Given the description of an element on the screen output the (x, y) to click on. 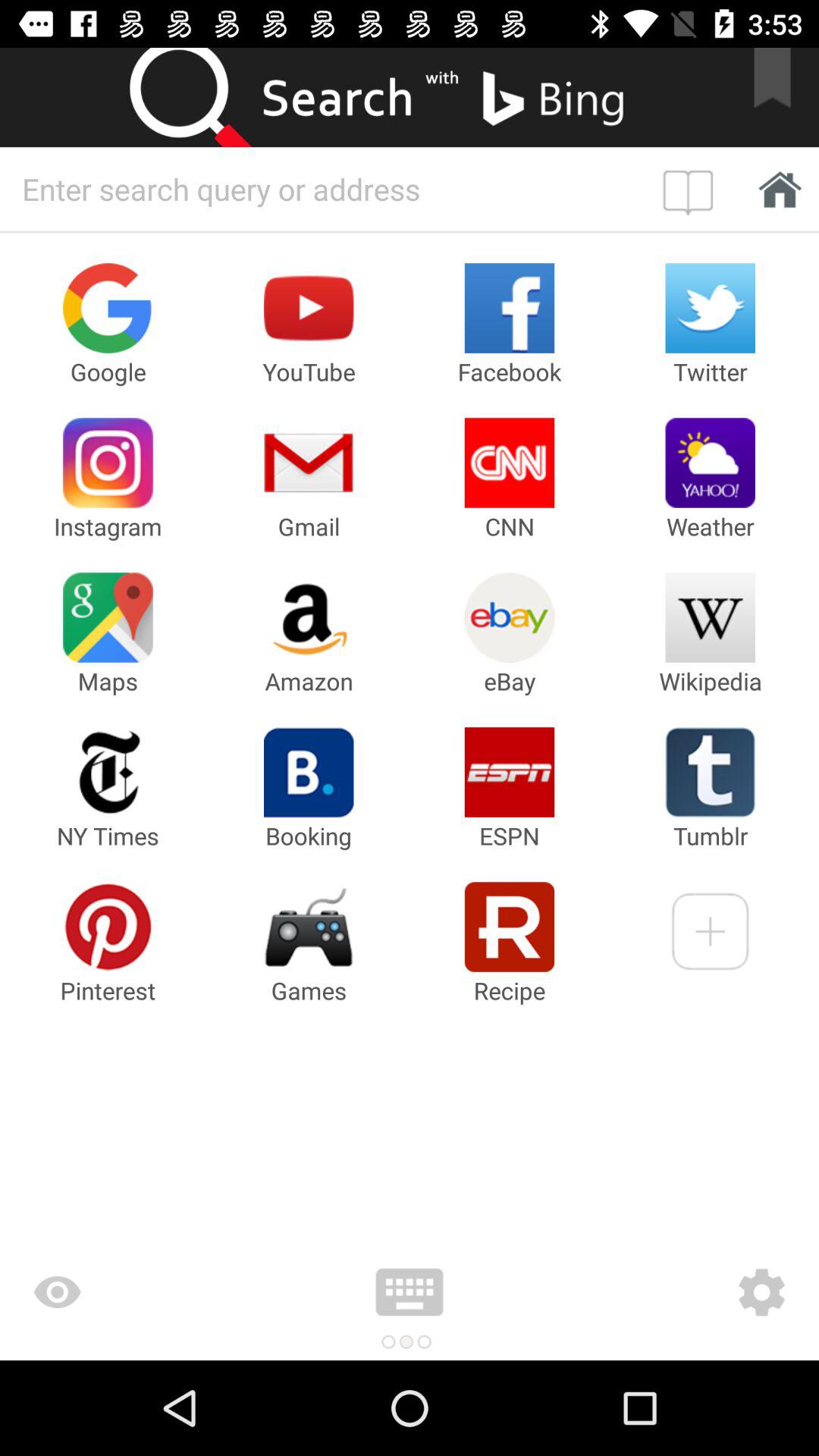
open bookmark (691, 188)
